Given the description of an element on the screen output the (x, y) to click on. 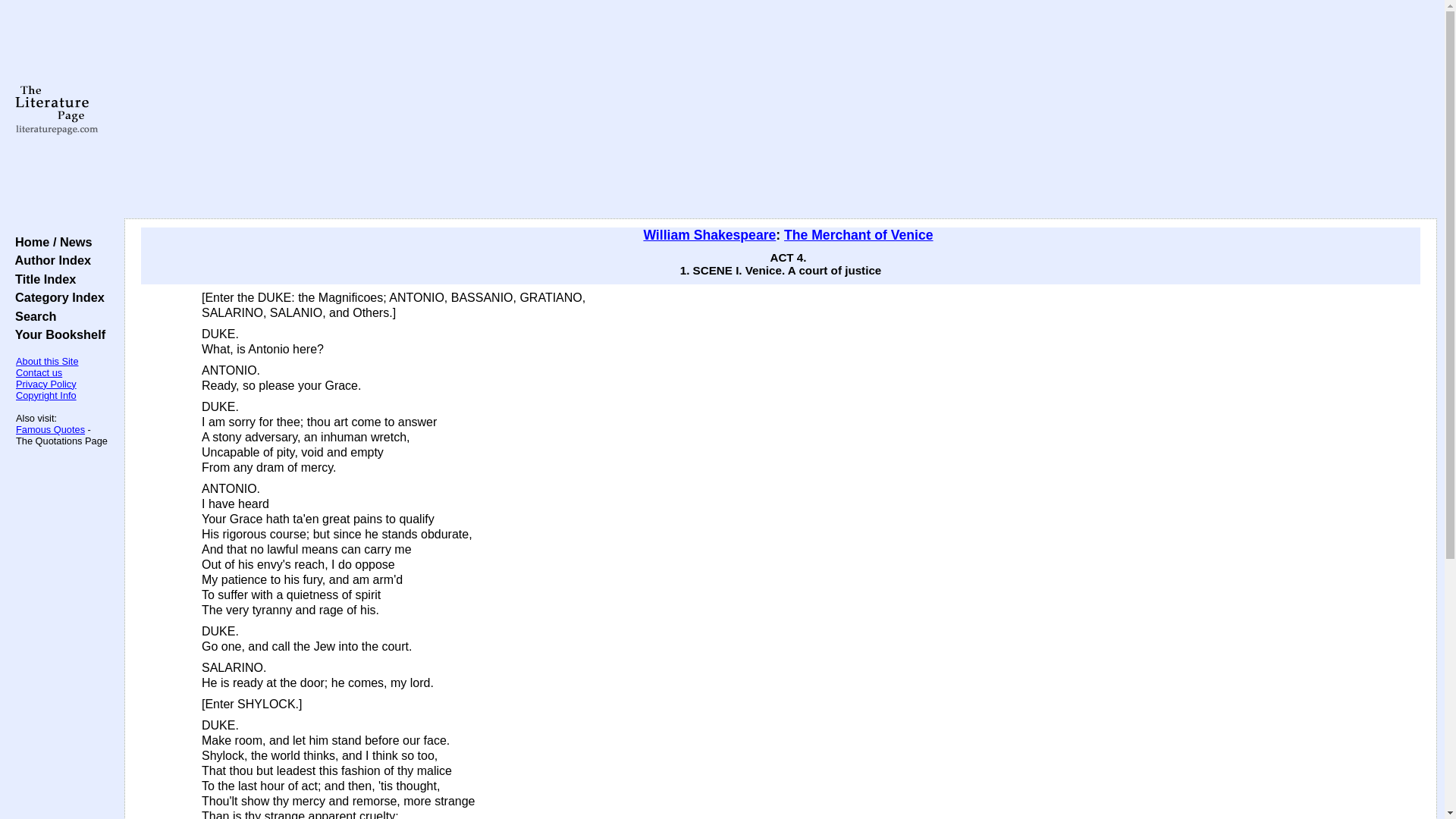
Privacy Policy (46, 383)
  Author Index (49, 259)
Copyright Info (46, 395)
Famous Quotes (50, 429)
  Your Bookshelf (56, 334)
Contact us (39, 372)
  Category Index (56, 296)
The Merchant of Venice (858, 234)
About this Site (47, 360)
William Shakespeare (709, 234)
  Search (32, 315)
  Title Index (41, 278)
